Given the description of an element on the screen output the (x, y) to click on. 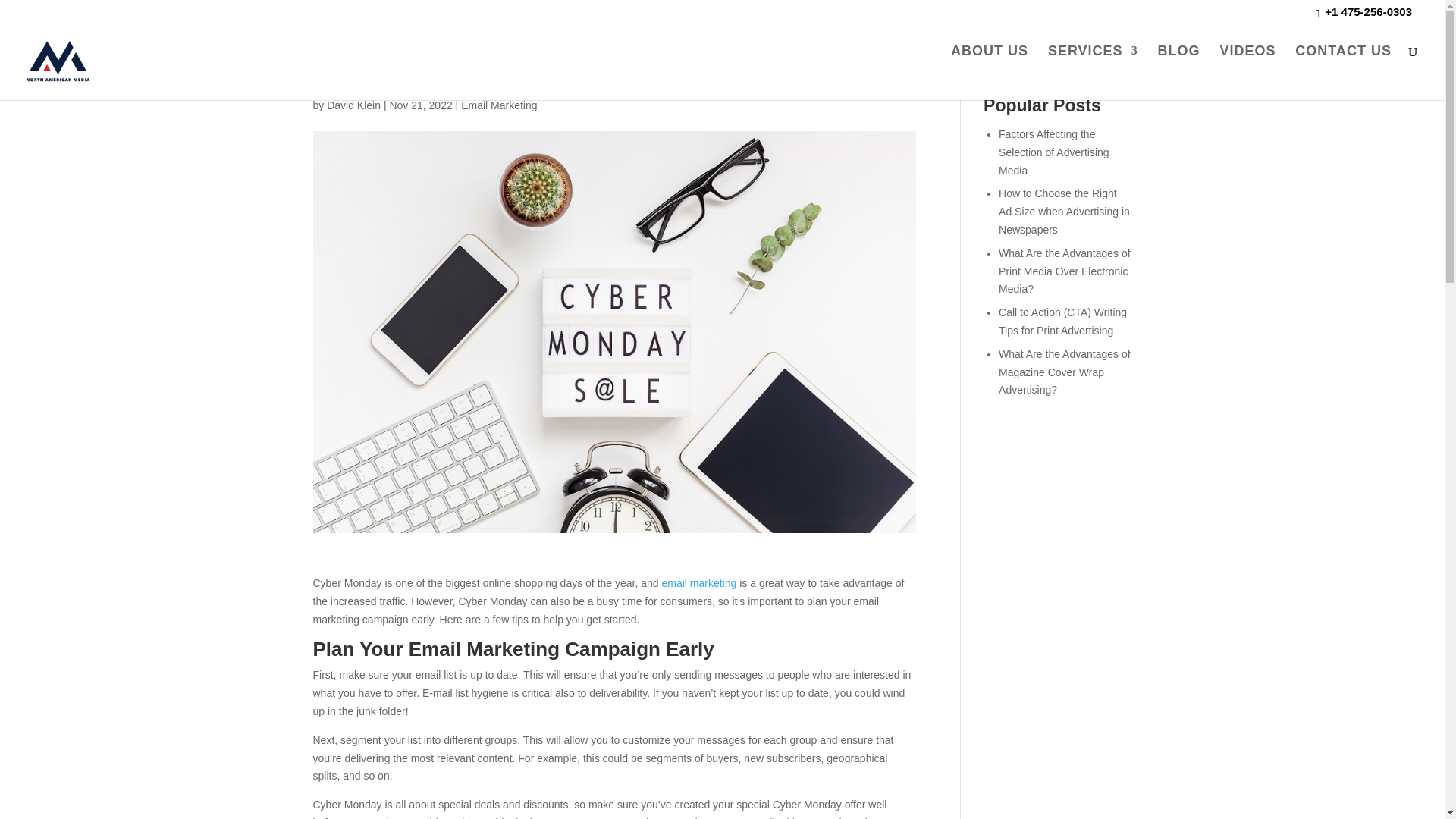
Email Marketing (499, 105)
VIDEOS (1247, 53)
Factors Affecting the Selection of Advertising Media (1053, 151)
CONTACT US (1343, 53)
Posts by David Klein (353, 105)
ABOUT US (988, 53)
email marketing (698, 582)
SERVICES (1093, 53)
